Given the description of an element on the screen output the (x, y) to click on. 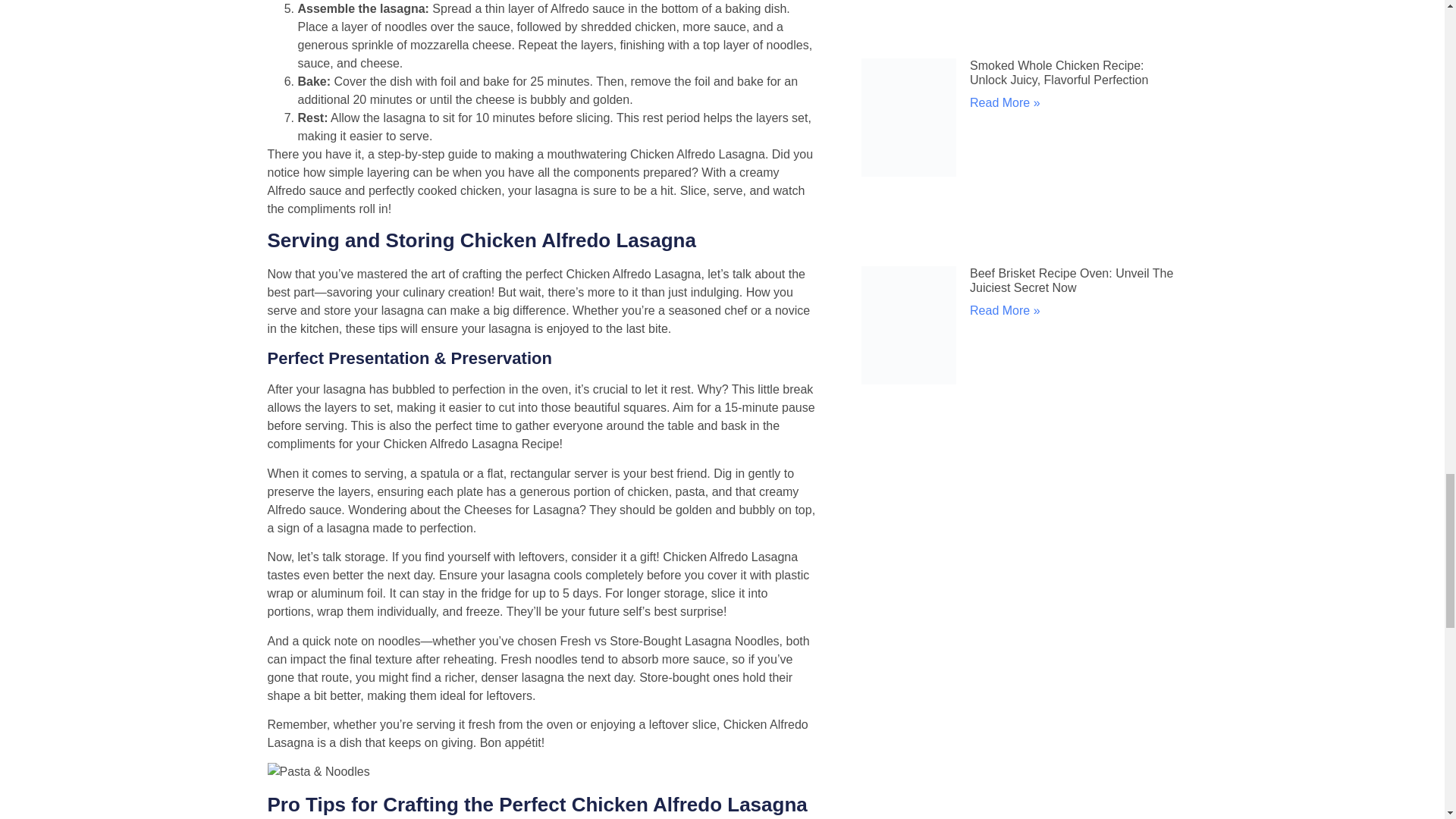
Step-by-Step Guide to Making Chicken Alfredo Lasagna (317, 771)
